Given the description of an element on the screen output the (x, y) to click on. 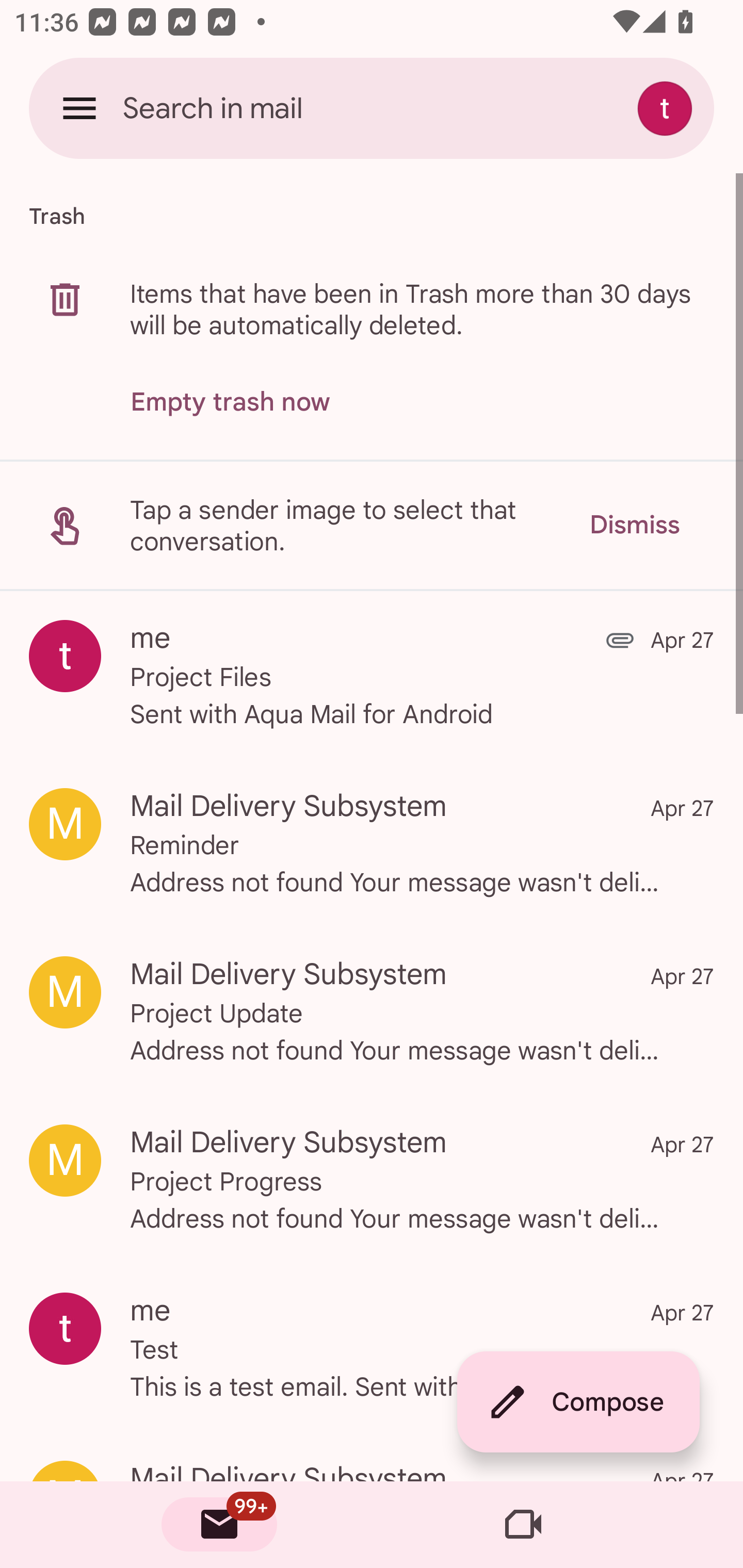
Open navigation drawer (79, 108)
Empty trash now (229, 402)
Dismiss Dismiss tip (634, 525)
Compose (577, 1401)
Meet (523, 1524)
